Given the description of an element on the screen output the (x, y) to click on. 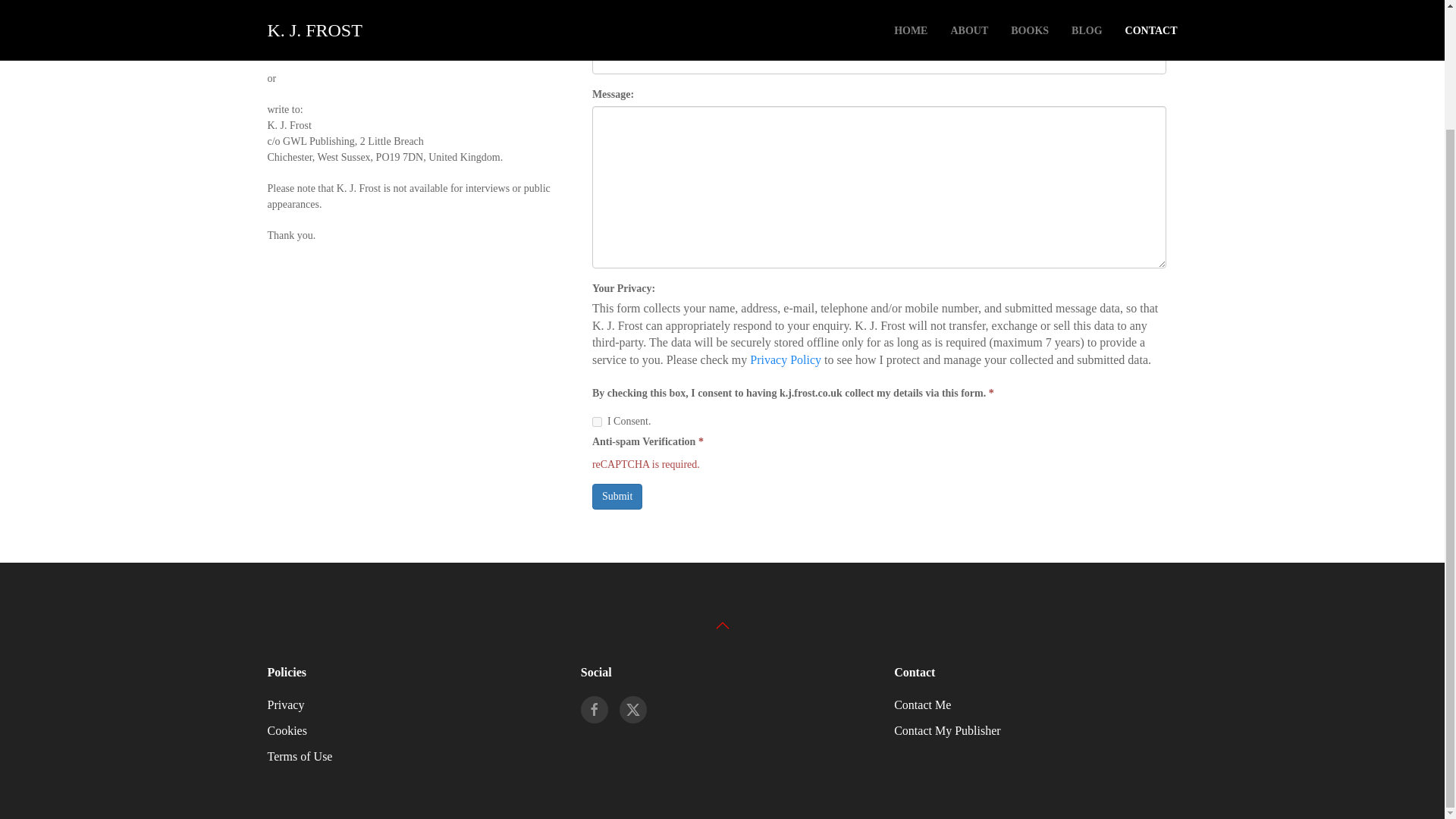
Cookies (285, 730)
Contact My Publisher (946, 730)
1 (597, 421)
Submit (617, 496)
Privacy (285, 704)
Terms of Use (298, 756)
Contact Me (921, 704)
Return to Top (721, 625)
Privacy Policy (785, 359)
